Given the description of an element on the screen output the (x, y) to click on. 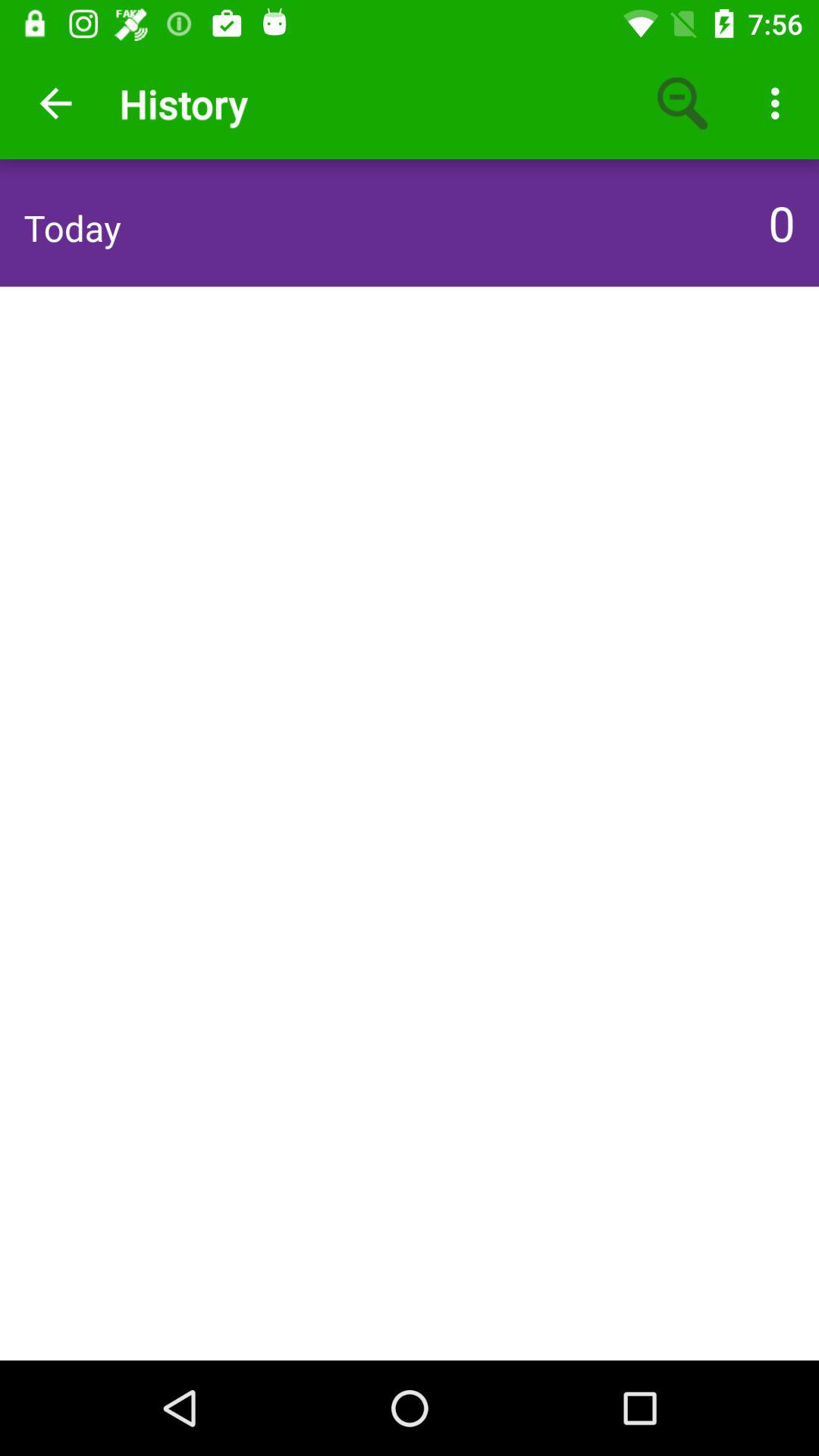
select icon to the left of history app (55, 103)
